Given the description of an element on the screen output the (x, y) to click on. 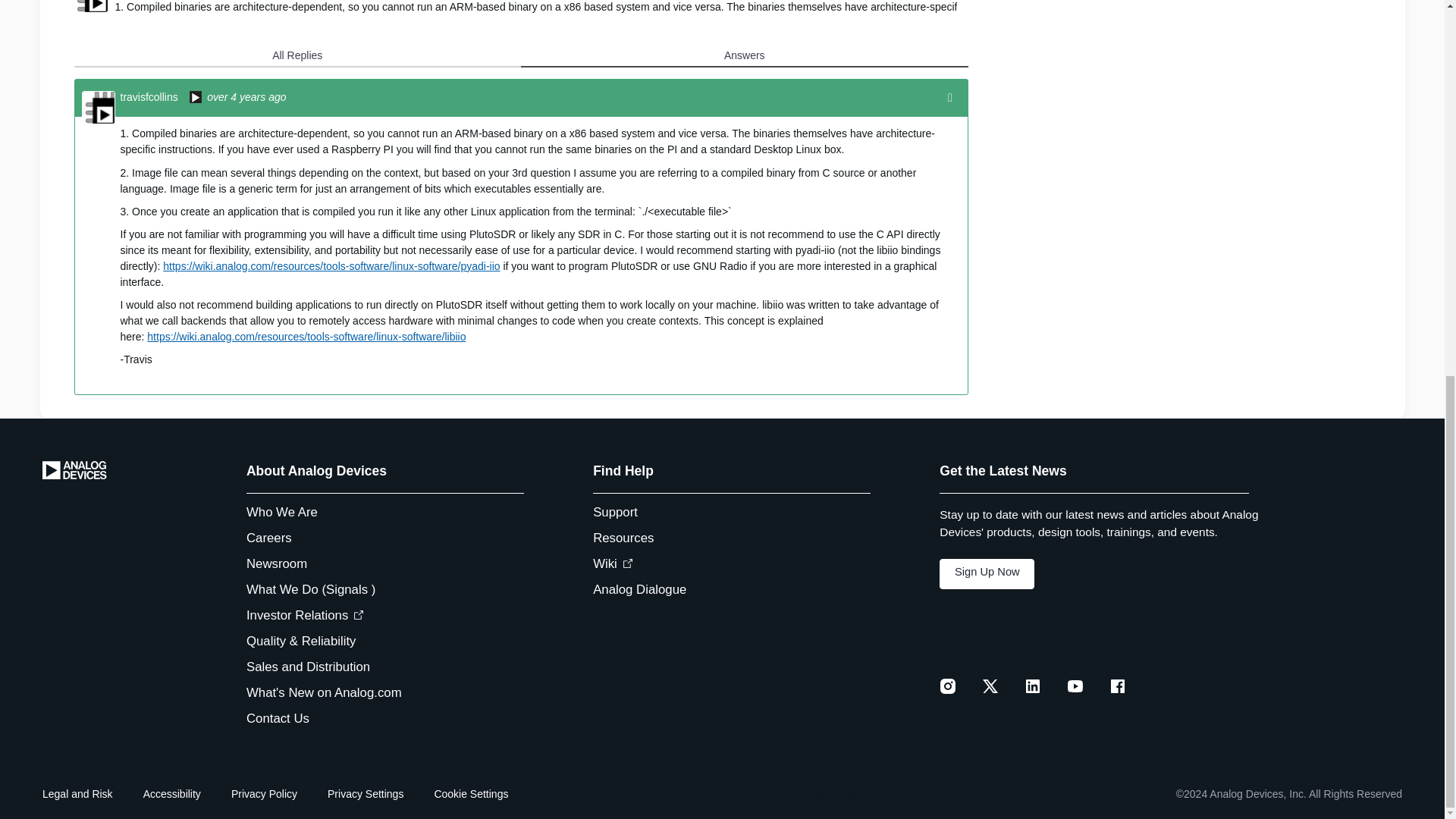
Analog Employees (195, 98)
